Given the description of an element on the screen output the (x, y) to click on. 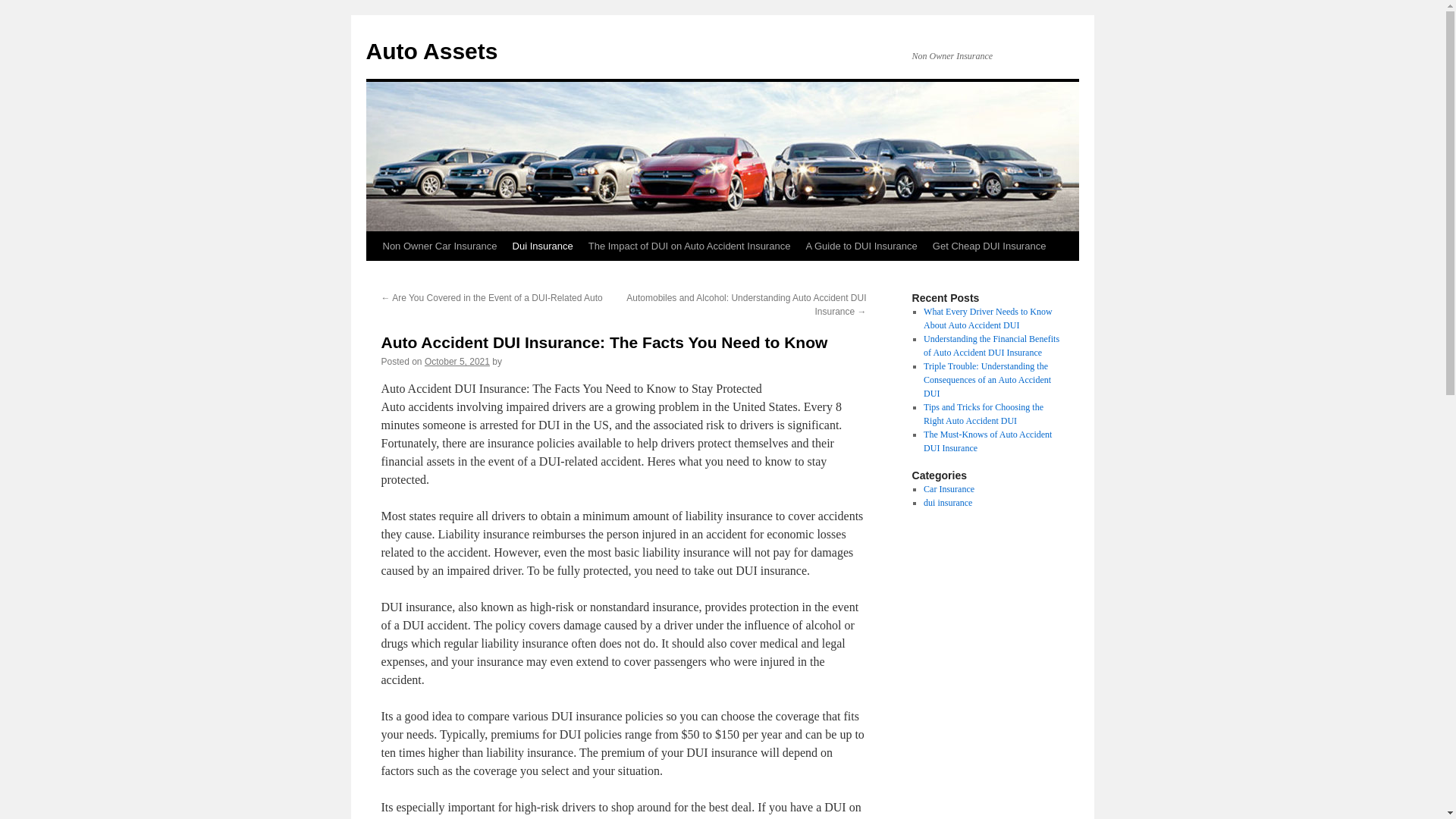
dui insurance (947, 502)
Auto Assets (431, 50)
What Every Driver Needs to Know About Auto Accident DUI (987, 318)
Get Cheap DUI Insurance (989, 246)
Car Insurance (948, 489)
The Must-Knows of Auto Accident DUI Insurance (987, 441)
10:00 am (457, 361)
Dui Insurance (542, 246)
October 5, 2021 (457, 361)
The Impact of DUI on Auto Accident Insurance (688, 246)
Tips and Tricks for Choosing the Right Auto Accident DUI (983, 413)
A Guide to DUI Insurance (860, 246)
Non Owner Car Insurance (438, 246)
